Given the description of an element on the screen output the (x, y) to click on. 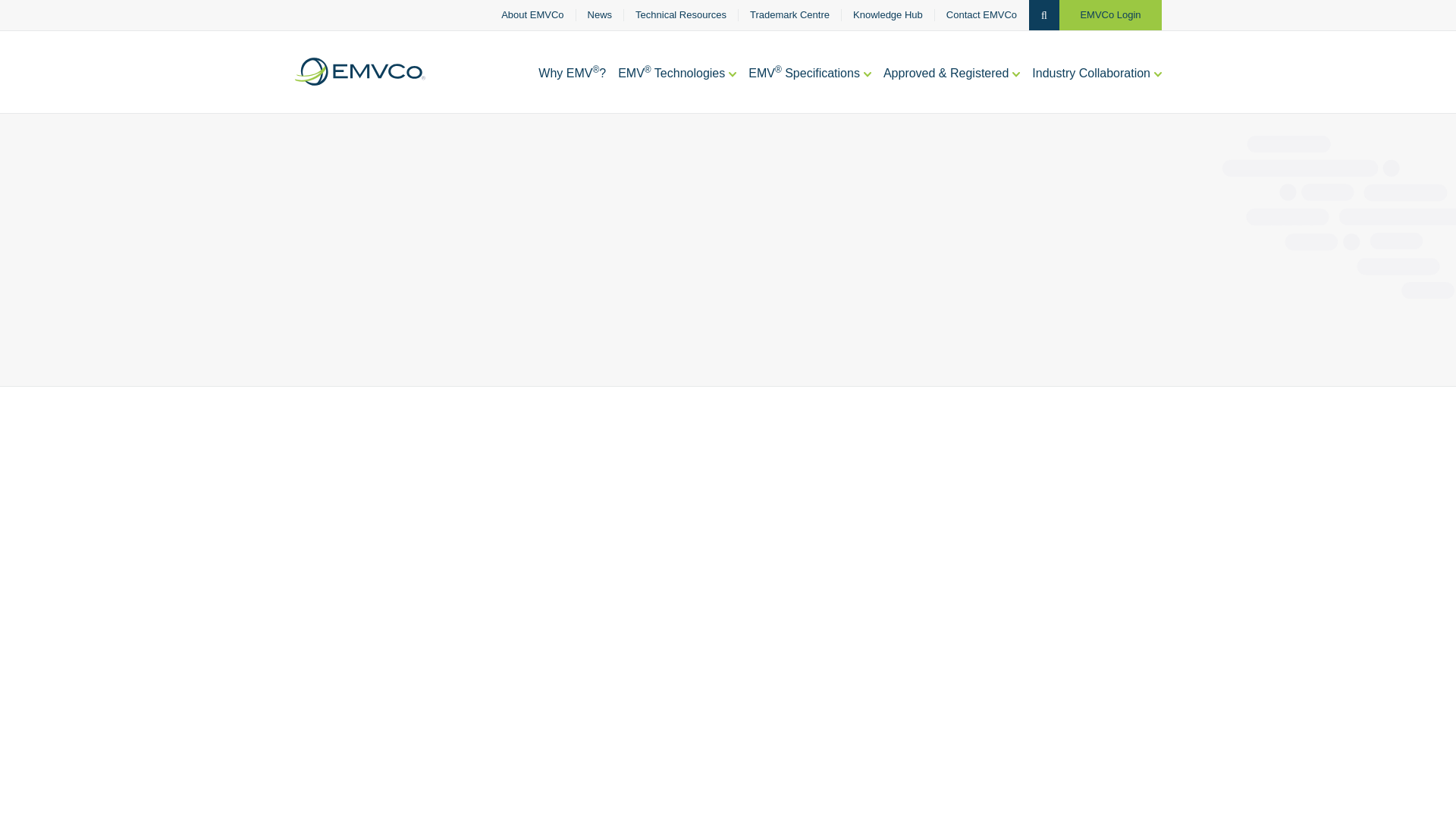
EMVCo Login (1110, 15)
News (600, 15)
Trademark Centre (789, 15)
Knowledge Hub (888, 15)
EMVCo Logo (360, 71)
About EMVCo (531, 15)
Contact EMVCo (981, 15)
Industry Collaboration (1096, 89)
Technical Resources (680, 15)
